Given the description of an element on the screen output the (x, y) to click on. 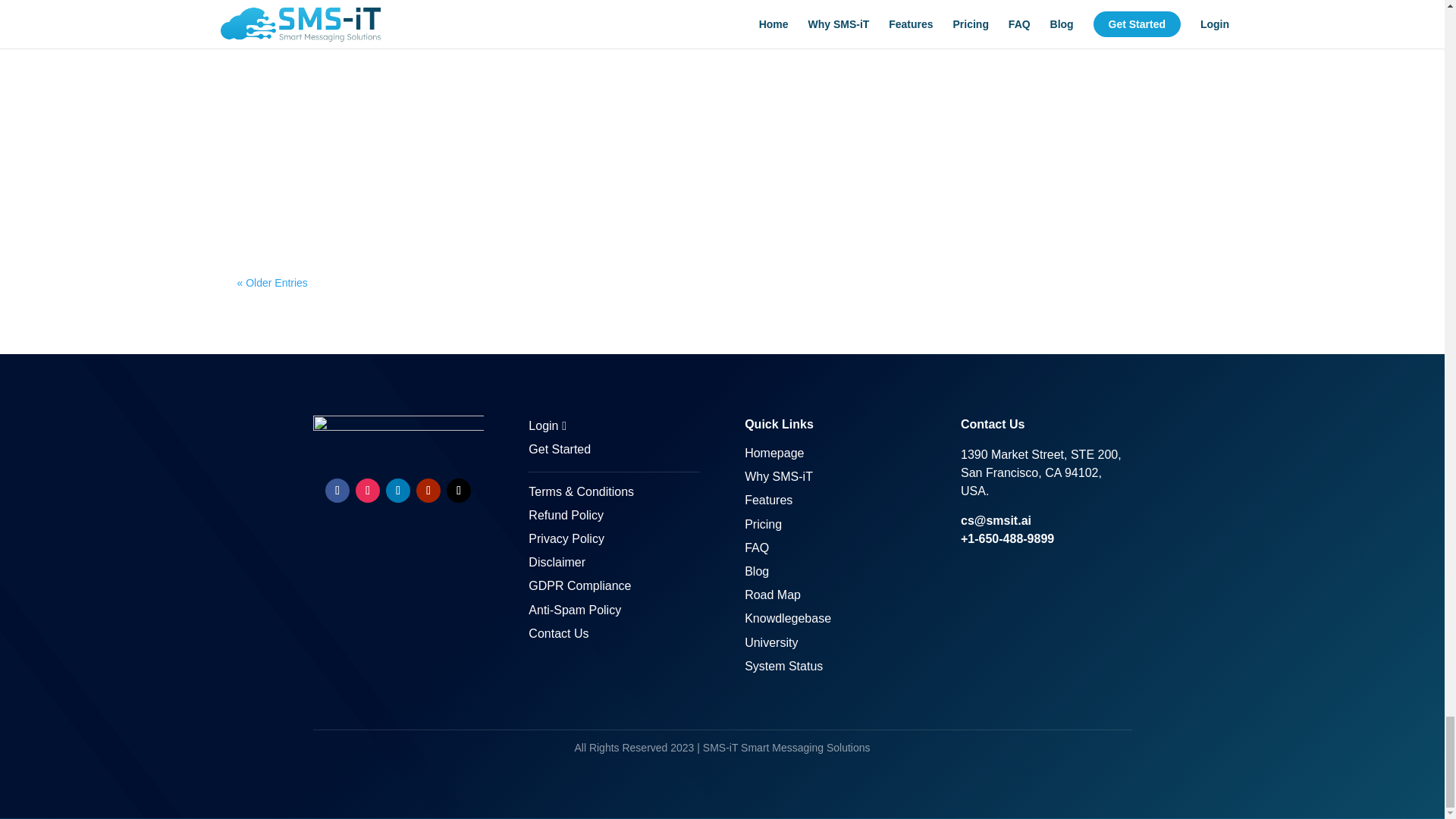
Follow on Facebook (336, 490)
Follow on Instagram (367, 490)
Follow on LinkedIn (397, 490)
logo-sm (398, 435)
Follow on Youtube (428, 490)
